Given the description of an element on the screen output the (x, y) to click on. 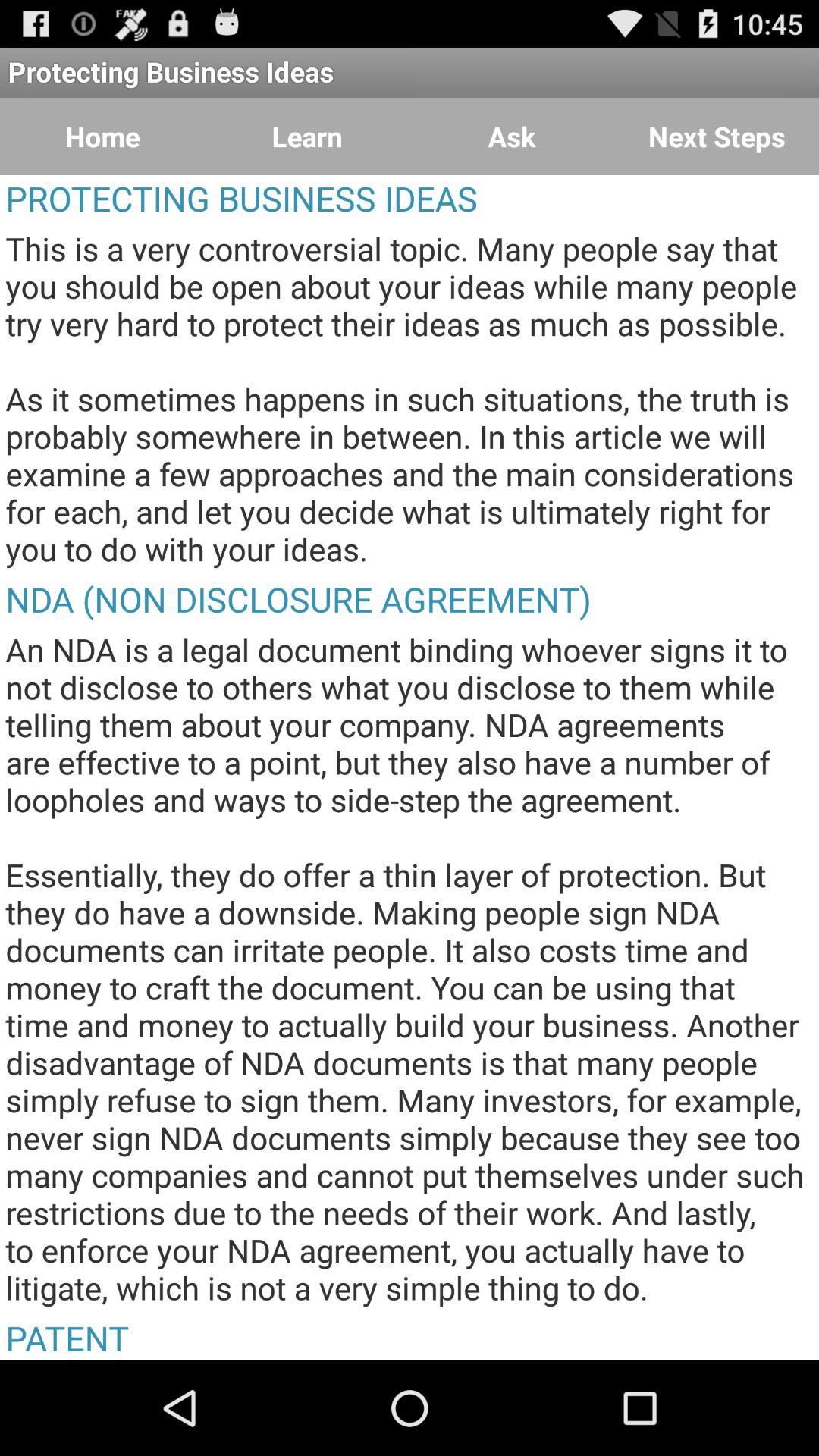
turn on learn button (306, 136)
